Given the description of an element on the screen output the (x, y) to click on. 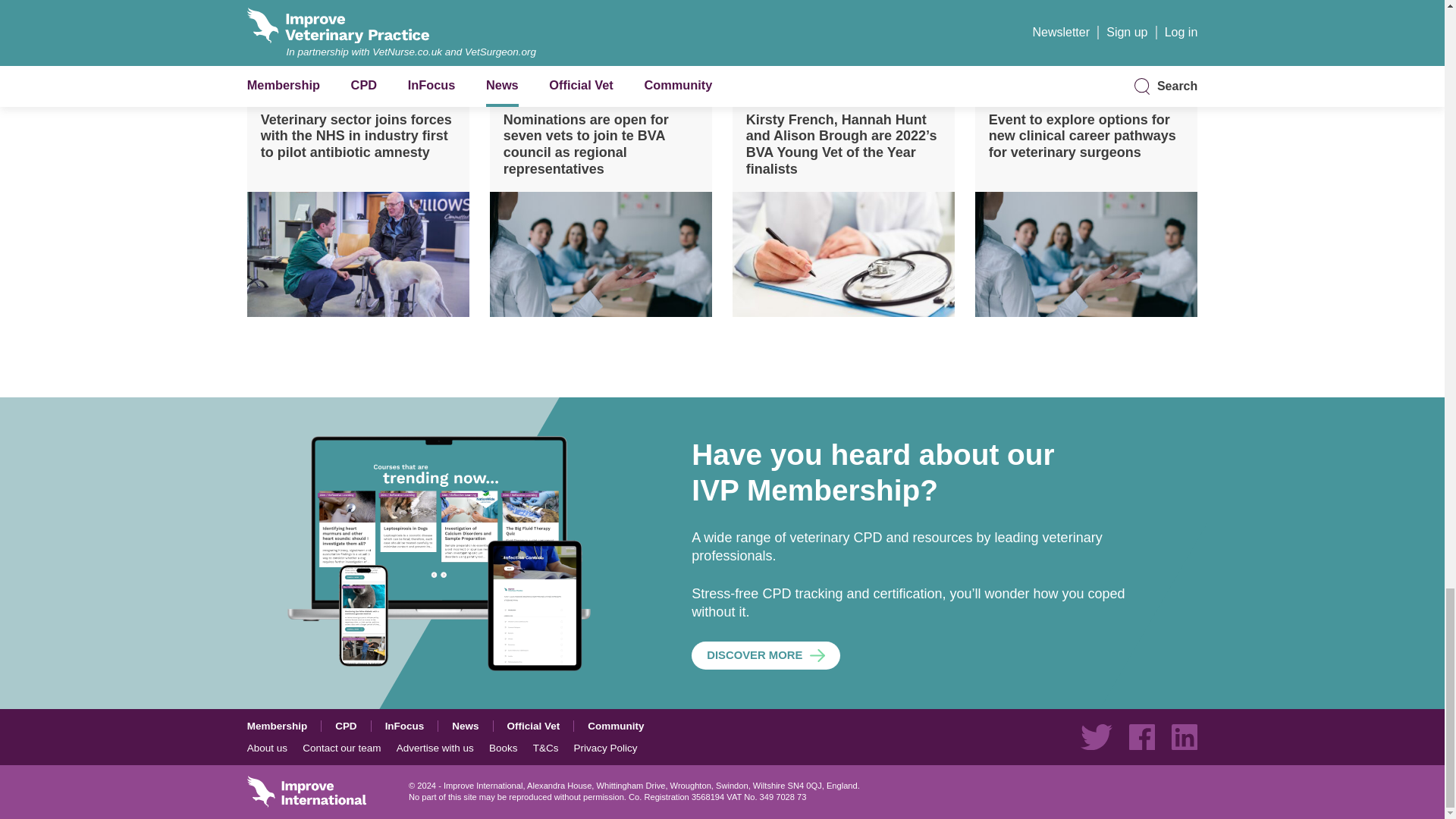
Veterinary Practice on Facebook (1141, 736)
Veterinary Practice on LinkedIn (1184, 736)
Veterinary Practice on Twitter (1096, 736)
